Given the description of an element on the screen output the (x, y) to click on. 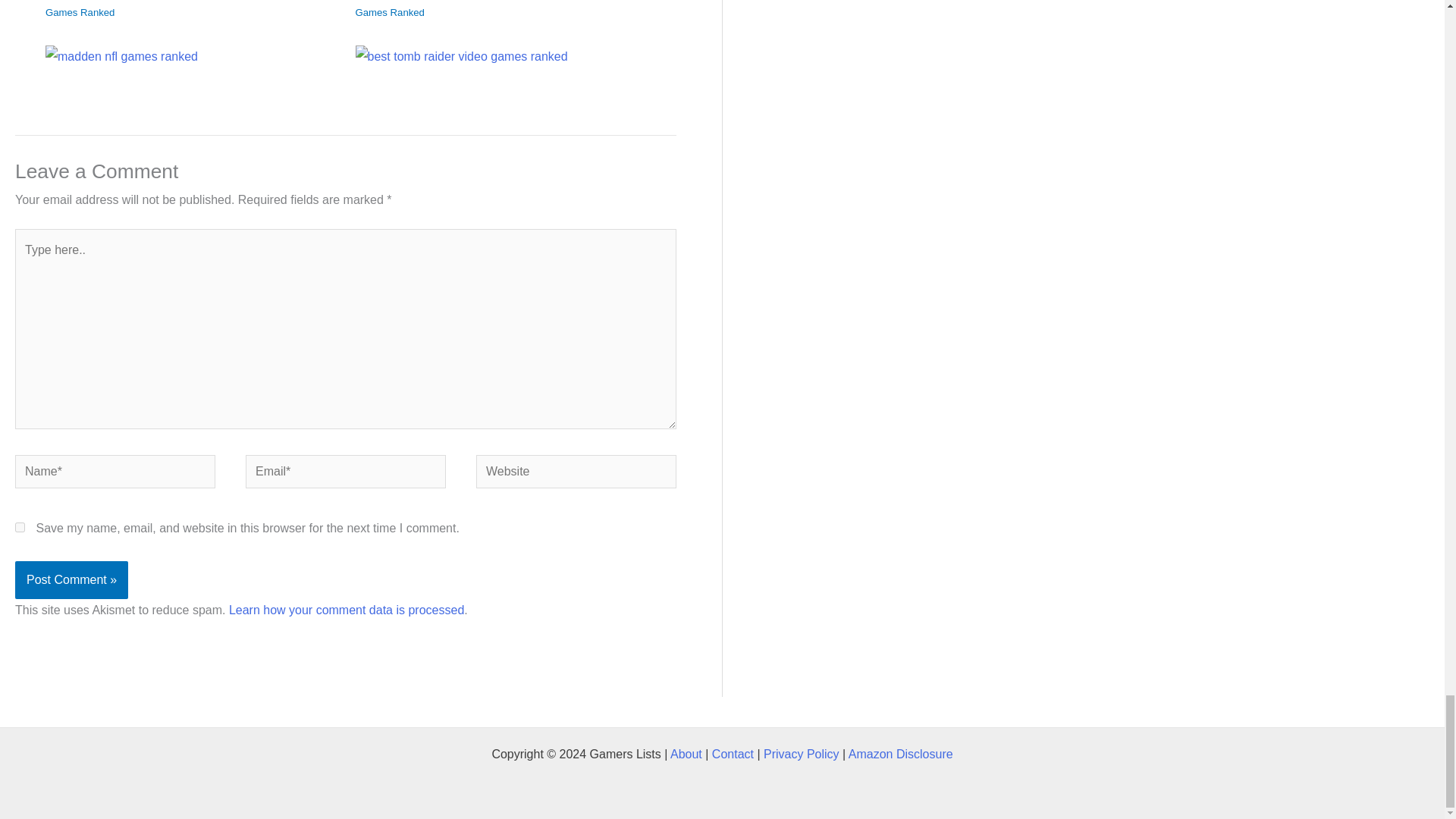
yes (19, 527)
